Given the description of an element on the screen output the (x, y) to click on. 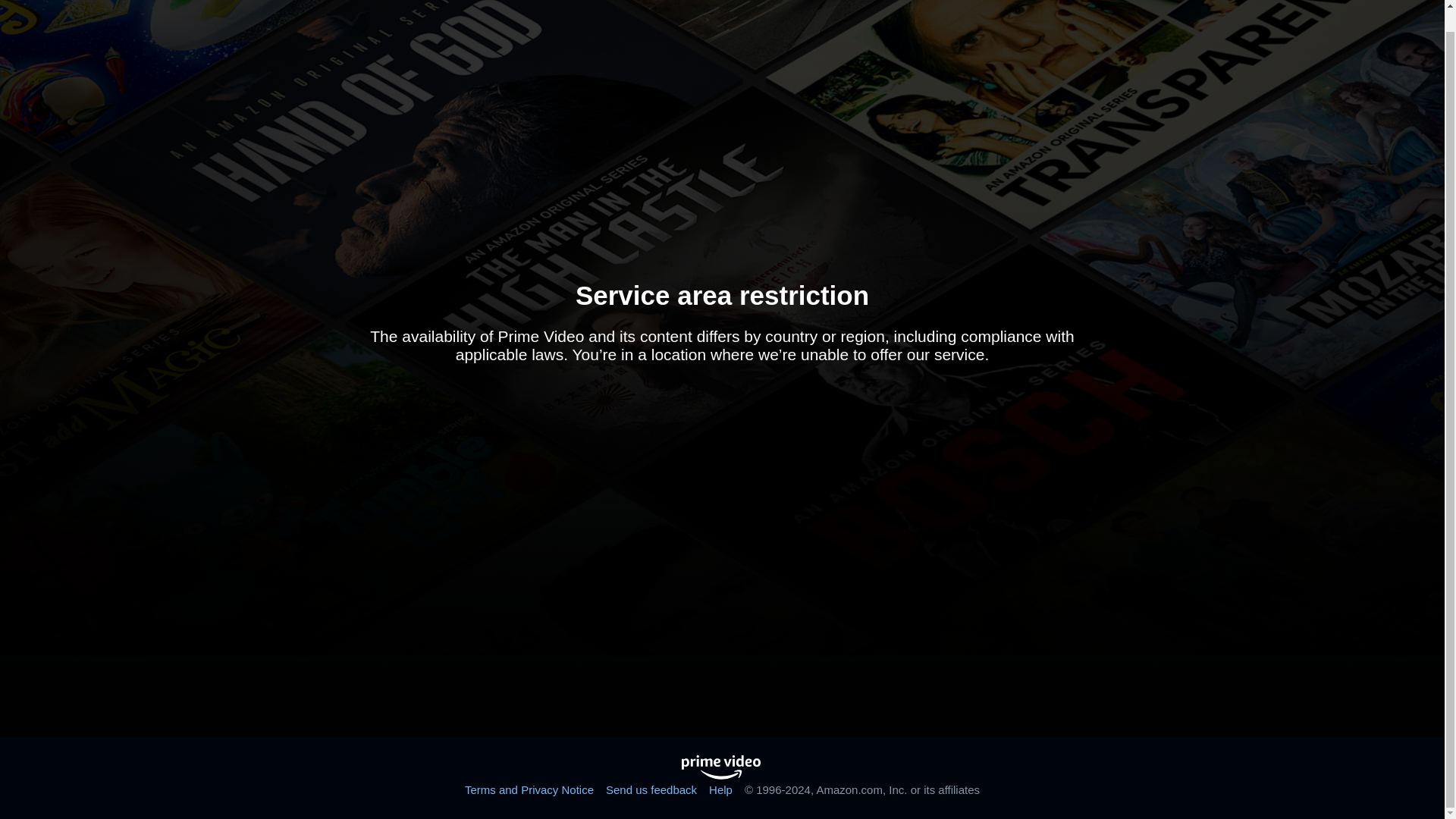
Terms and Privacy Notice (529, 789)
Help (720, 789)
Send us feedback (651, 789)
